Given the description of an element on the screen output the (x, y) to click on. 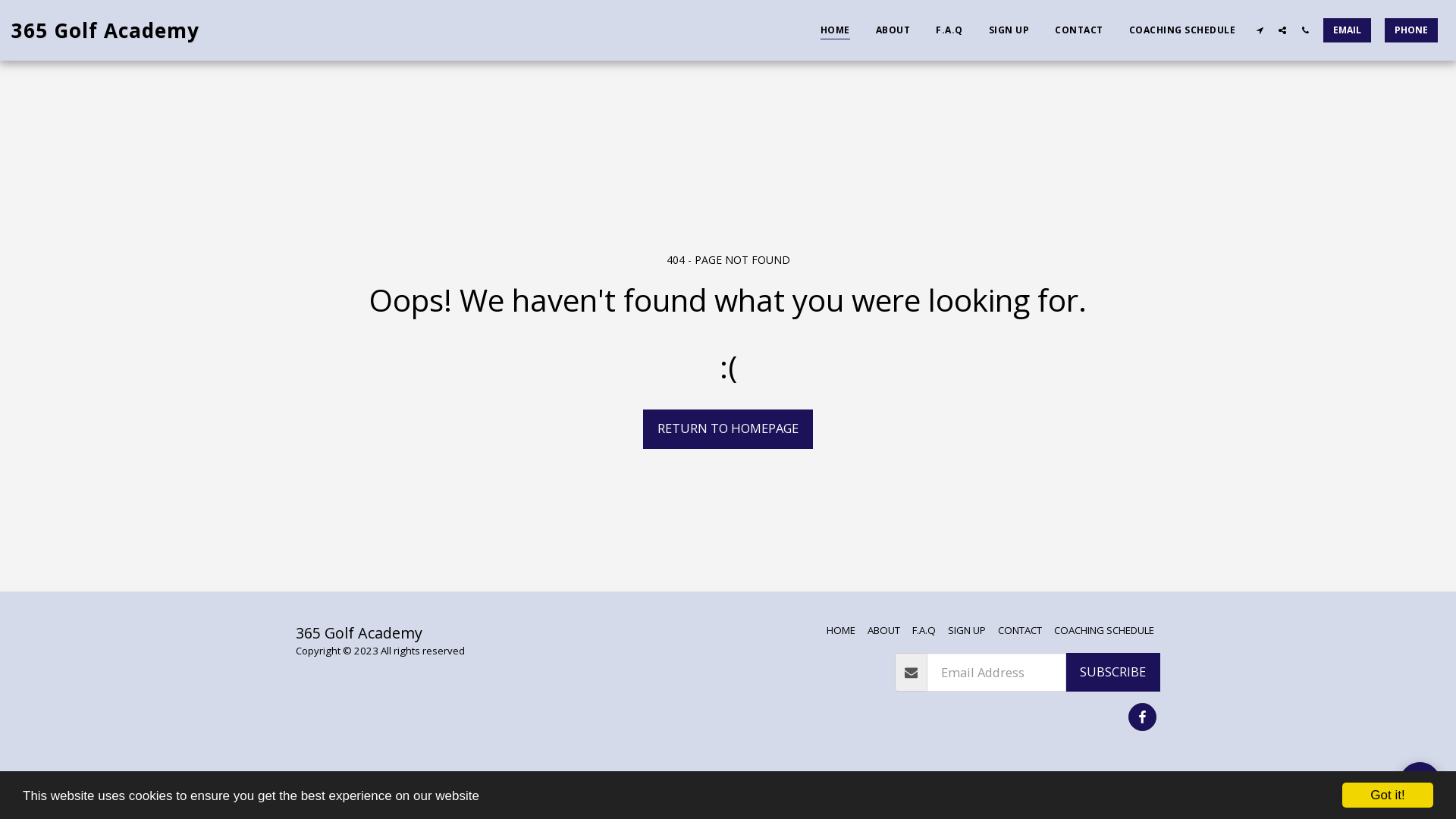
  Element type: text (1281, 29)
  Element type: text (1304, 29)
PHONE Element type: text (1410, 29)
F.A.Q Element type: text (949, 29)
ABOUT Element type: text (892, 29)
PHONE Element type: text (1410, 30)
F.A.Q Element type: text (923, 629)
SIGN UP Element type: text (966, 629)
HOME Element type: text (835, 29)
  Element type: text (1142, 716)
RETURN TO HOMEPAGE Element type: text (727, 428)
SIGN UP Element type: text (1008, 29)
COACHING SCHEDULE Element type: text (1181, 29)
EMAIL Element type: text (1347, 29)
HOME Element type: text (840, 629)
COACHING SCHEDULE Element type: text (1104, 629)
CONTACT Element type: text (1019, 629)
  Element type: text (1419, 782)
CONTACT Element type: text (1078, 29)
SUBSCRIBE Element type: text (1112, 672)
365 Golf Academy Element type: text (105, 30)
Got it! Element type: text (1387, 794)
ABOUT Element type: text (883, 629)
EMAIL Element type: text (1347, 30)
  Element type: text (1259, 29)
